Given the description of an element on the screen output the (x, y) to click on. 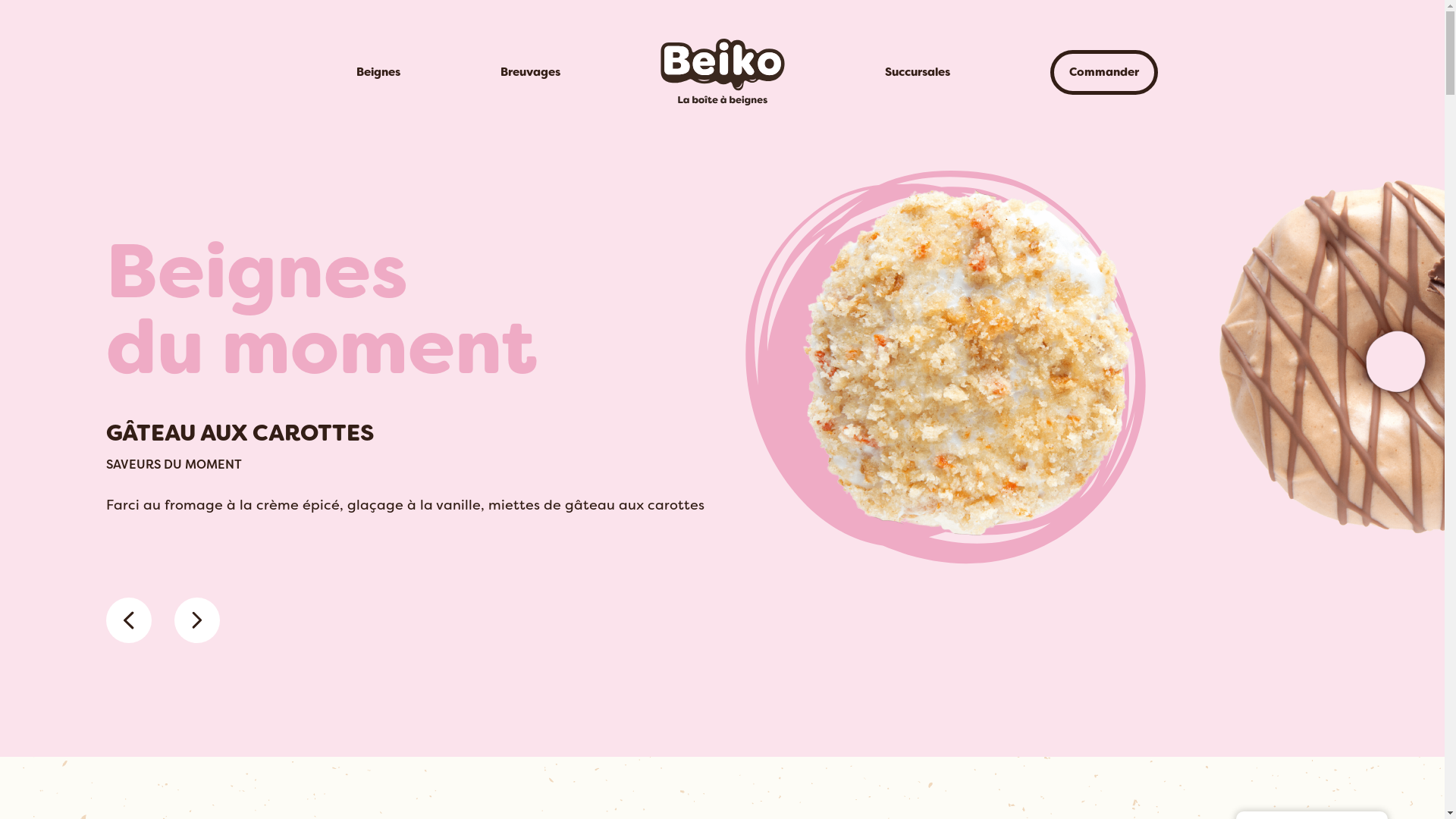
Commander Element type: text (1103, 72)
Breuvages Element type: text (529, 71)
Beignes Element type: text (377, 71)
Succursales Element type: text (917, 71)
